Given the description of an element on the screen output the (x, y) to click on. 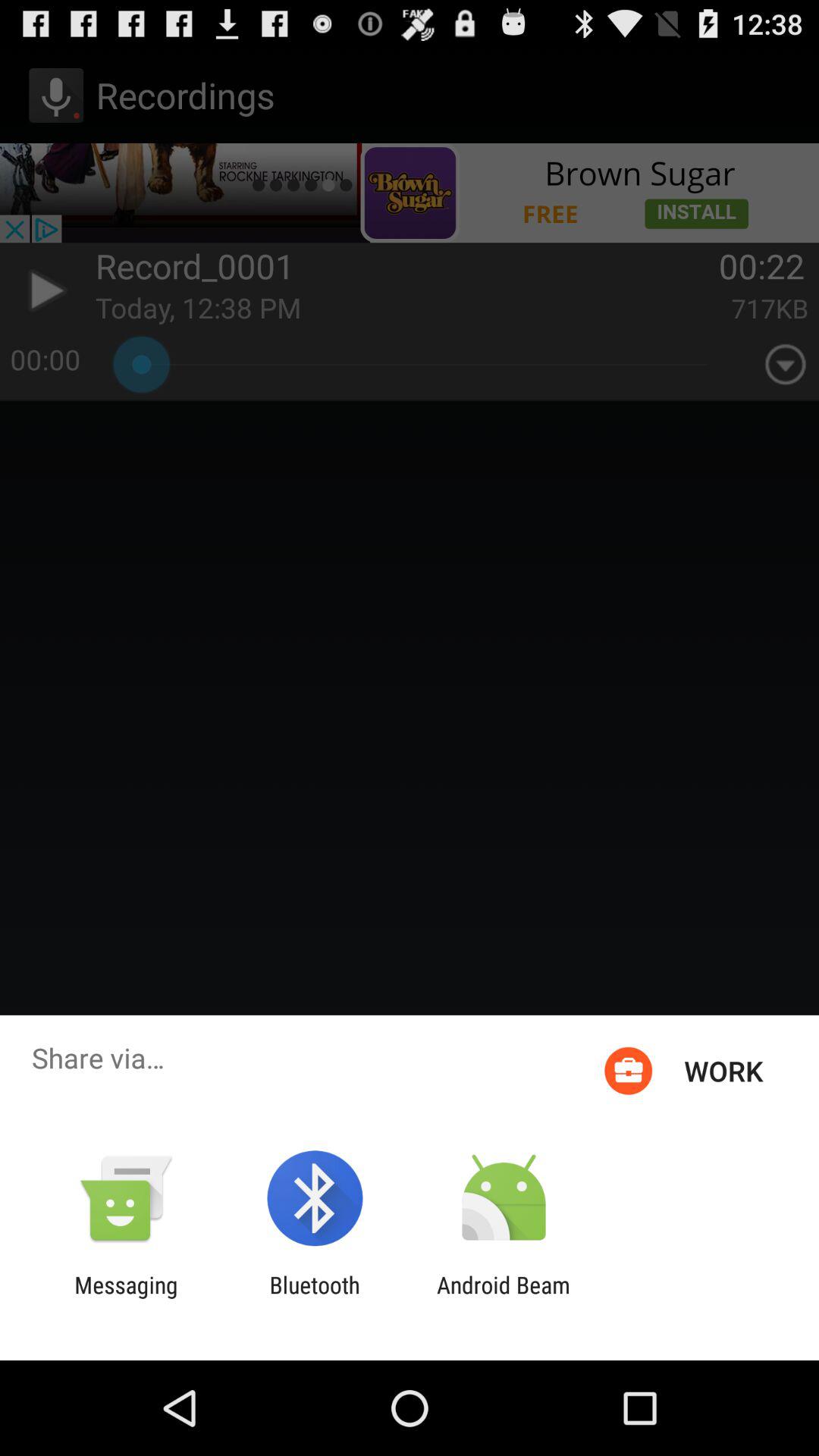
jump to the bluetooth app (314, 1298)
